Given the description of an element on the screen output the (x, y) to click on. 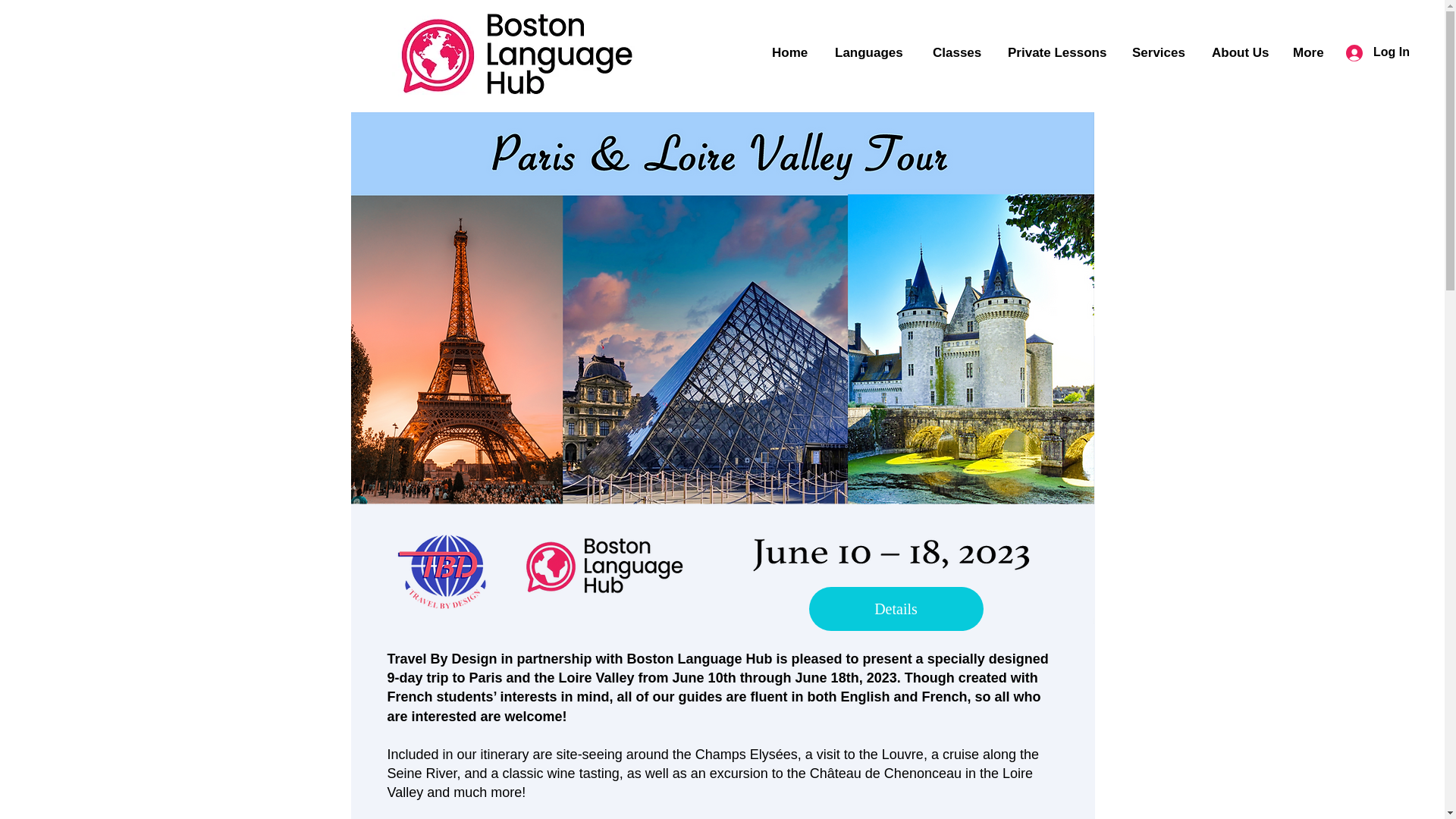
Log In (1378, 52)
Languages (872, 52)
Services (1160, 52)
Classes (958, 52)
About Us (1240, 52)
Details (895, 608)
Private Lessons (1058, 52)
Home (792, 52)
